Given the description of an element on the screen output the (x, y) to click on. 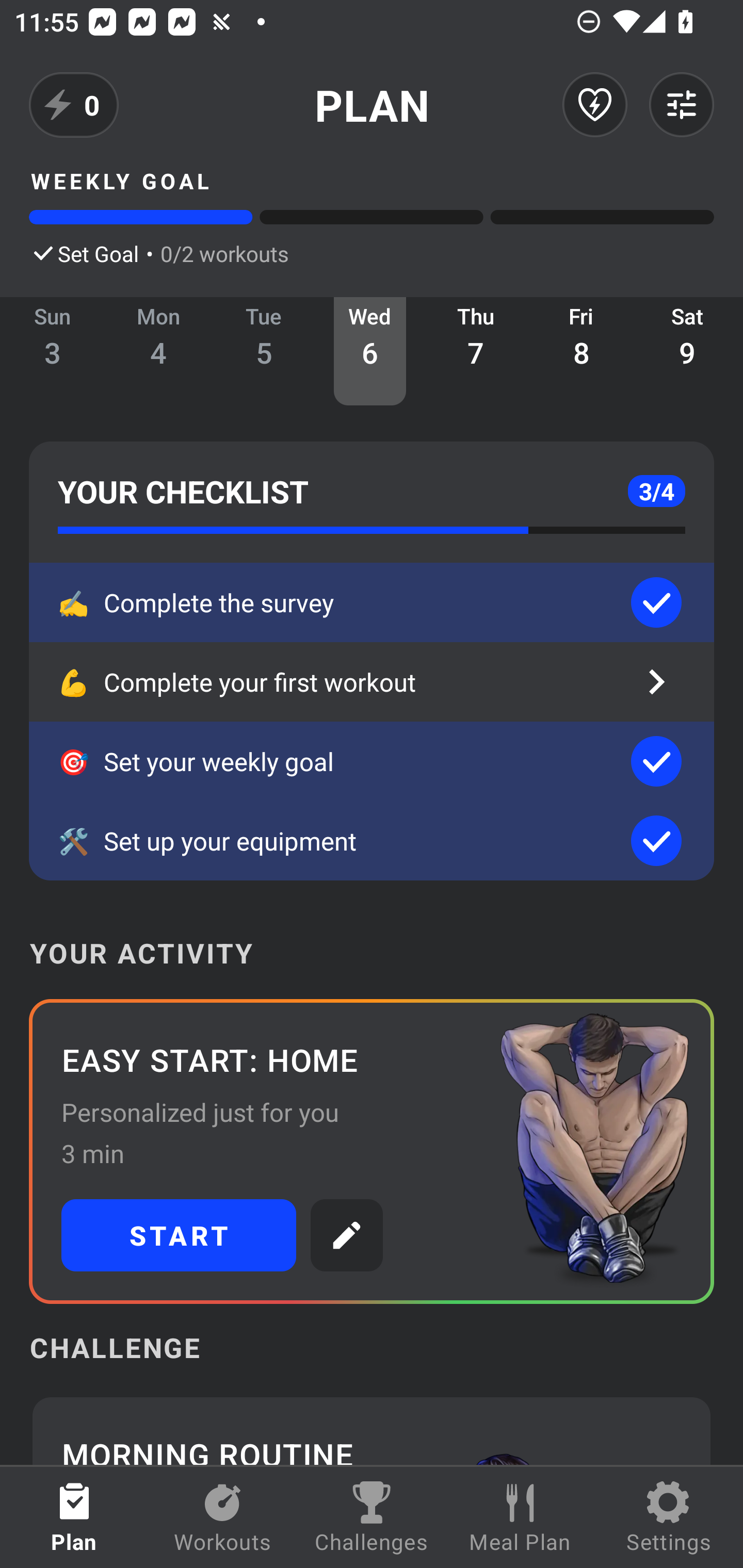
0 (73, 104)
Sun 3 (52, 351)
Mon 4 (158, 351)
Tue 5 (264, 351)
Wed 6 (369, 351)
Thu 7 (475, 351)
Fri 8 (581, 351)
Sat 9 (687, 351)
💪 Complete your first workout (371, 681)
START (178, 1235)
 Workouts  (222, 1517)
 Challenges  (371, 1517)
 Meal Plan  (519, 1517)
 Settings  (668, 1517)
